Given the description of an element on the screen output the (x, y) to click on. 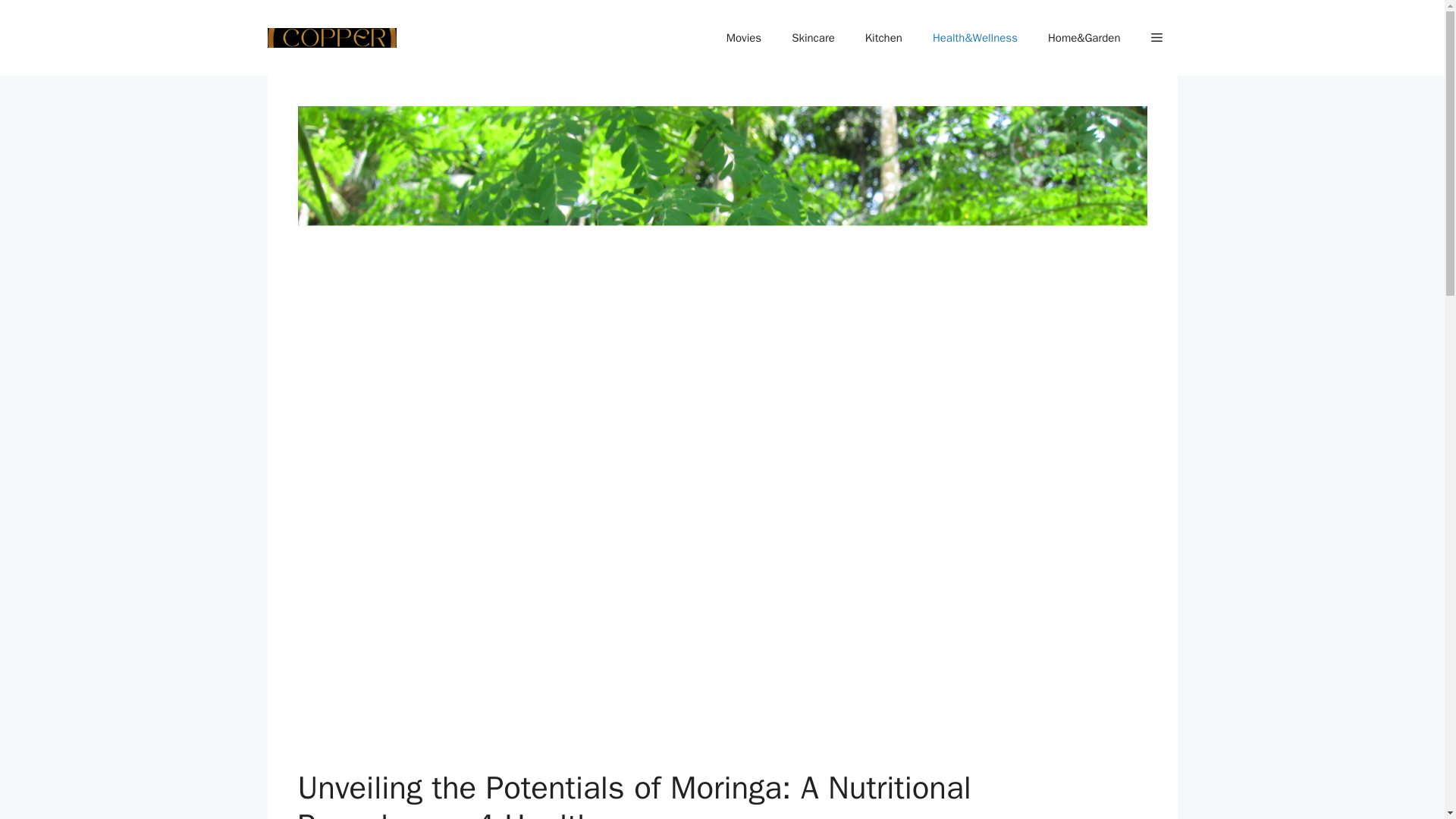
Kitchen (883, 37)
Movies (743, 37)
Skincare (813, 37)
